Given the description of an element on the screen output the (x, y) to click on. 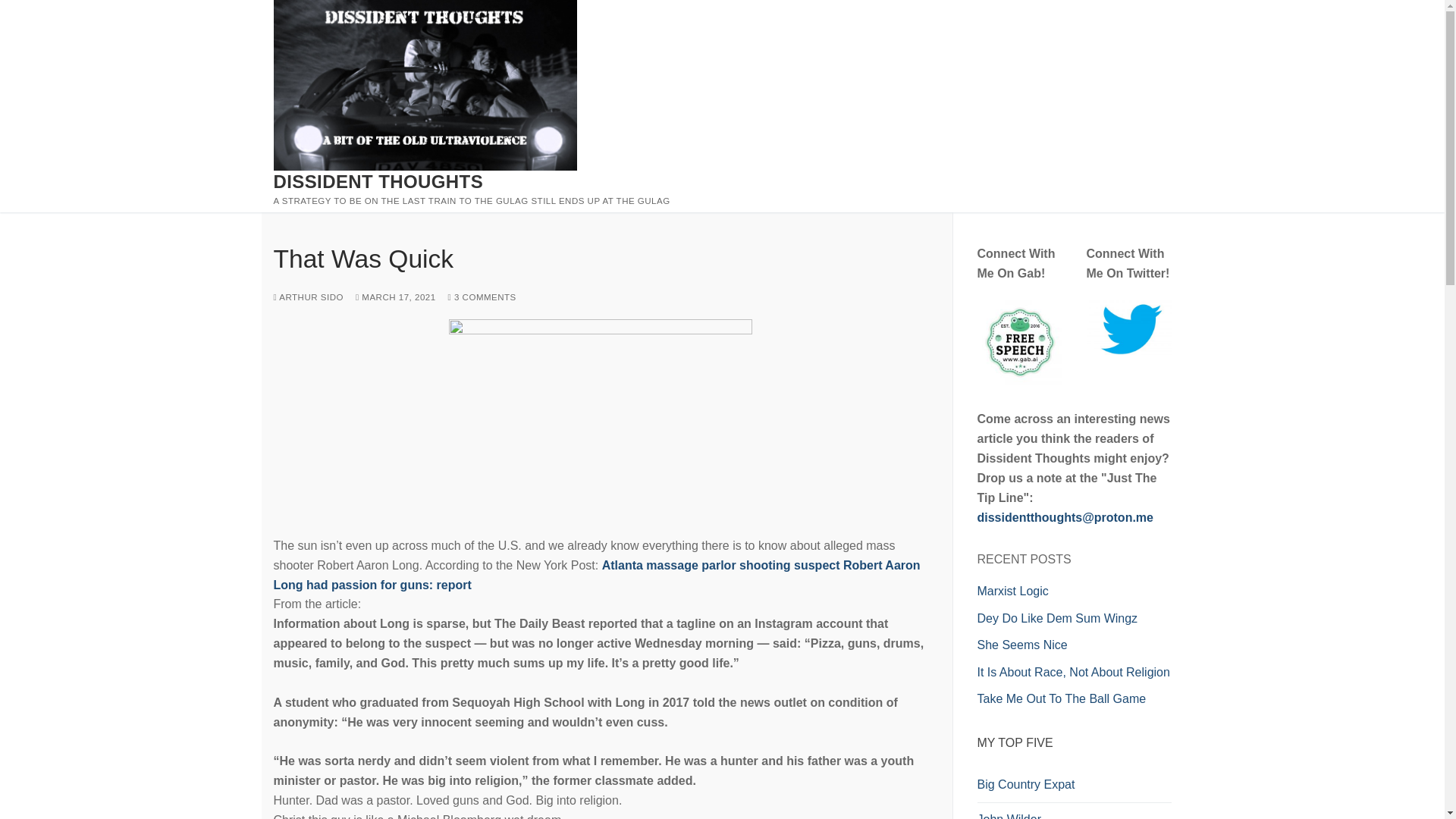
ARTHUR SIDO (307, 297)
MARCH 17, 2021 (395, 297)
3 COMMENTS (482, 297)
DISSIDENT THOUGHTS (378, 181)
Dey Do Like Dem Sum Wingz (1056, 617)
It Is About Race, Not About Religion (1072, 671)
John Wilder (1073, 811)
Marxist Logic (1012, 590)
Take Me Out To The Ball Game (1060, 698)
